Given the description of an element on the screen output the (x, y) to click on. 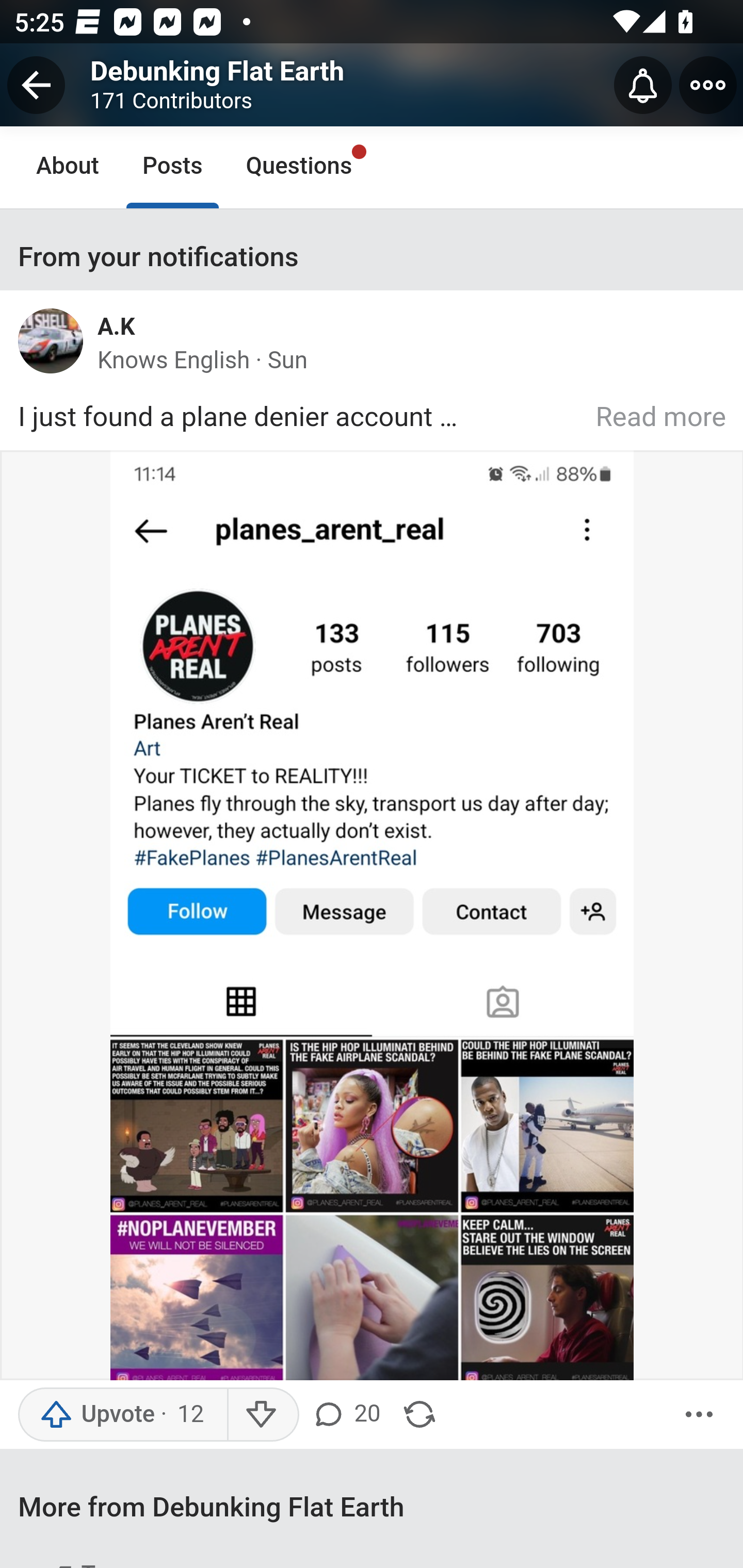
Me Notifications Search (371, 82)
About (68, 166)
Posts (171, 166)
Questions (299, 166)
Profile photo for A.K (57, 346)
Profile photo for A.K (50, 341)
A.K (116, 326)
Sun (287, 360)
Upvote Downvote (161, 1414)
Upvote (122, 1414)
Downvote (262, 1414)
20 comments (348, 1414)
20 comments (345, 1414)
Share (419, 1414)
More (699, 1414)
